Given the description of an element on the screen output the (x, y) to click on. 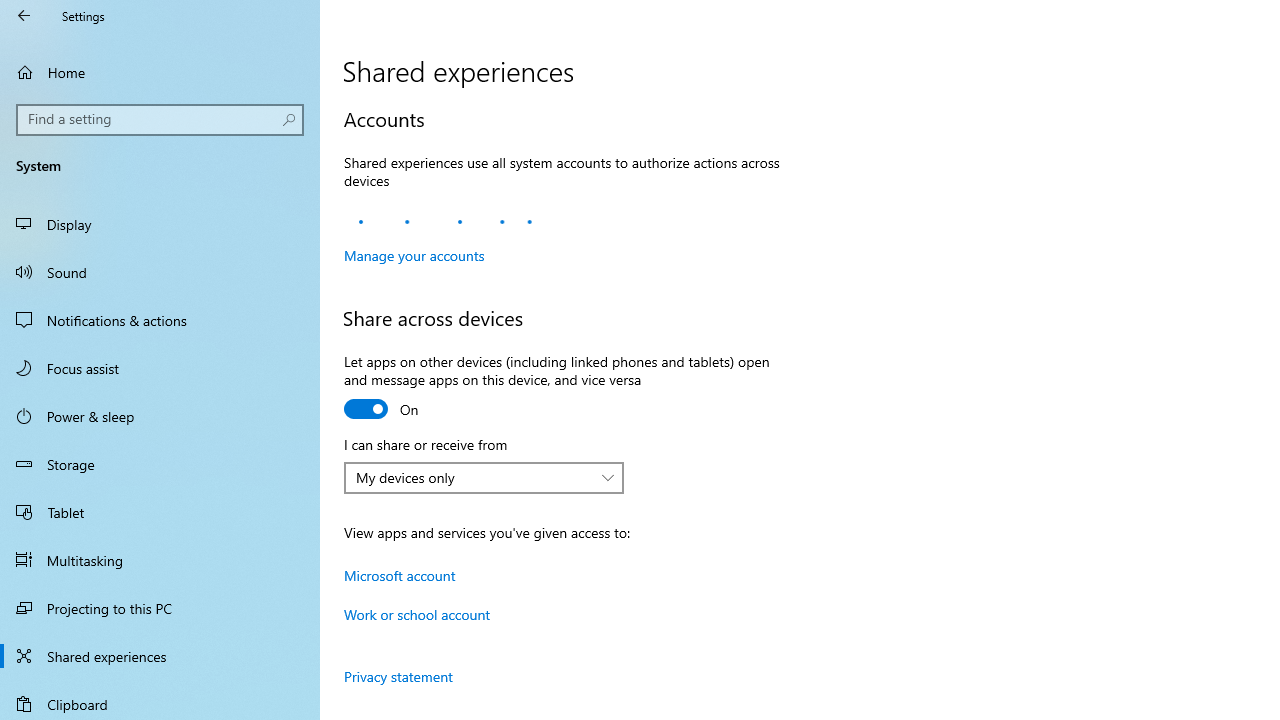
Shared experiences (160, 655)
Sound (160, 271)
Storage (160, 463)
Privacy statement (398, 676)
Microsoft account (399, 574)
Multitasking (160, 559)
Projecting to this PC (160, 607)
Manage your accounts (414, 255)
Power & sleep (160, 415)
Notifications & actions (160, 319)
Back (24, 15)
Home (160, 71)
Work or school account (417, 614)
Display (160, 223)
Search box, Find a setting (160, 119)
